Given the description of an element on the screen output the (x, y) to click on. 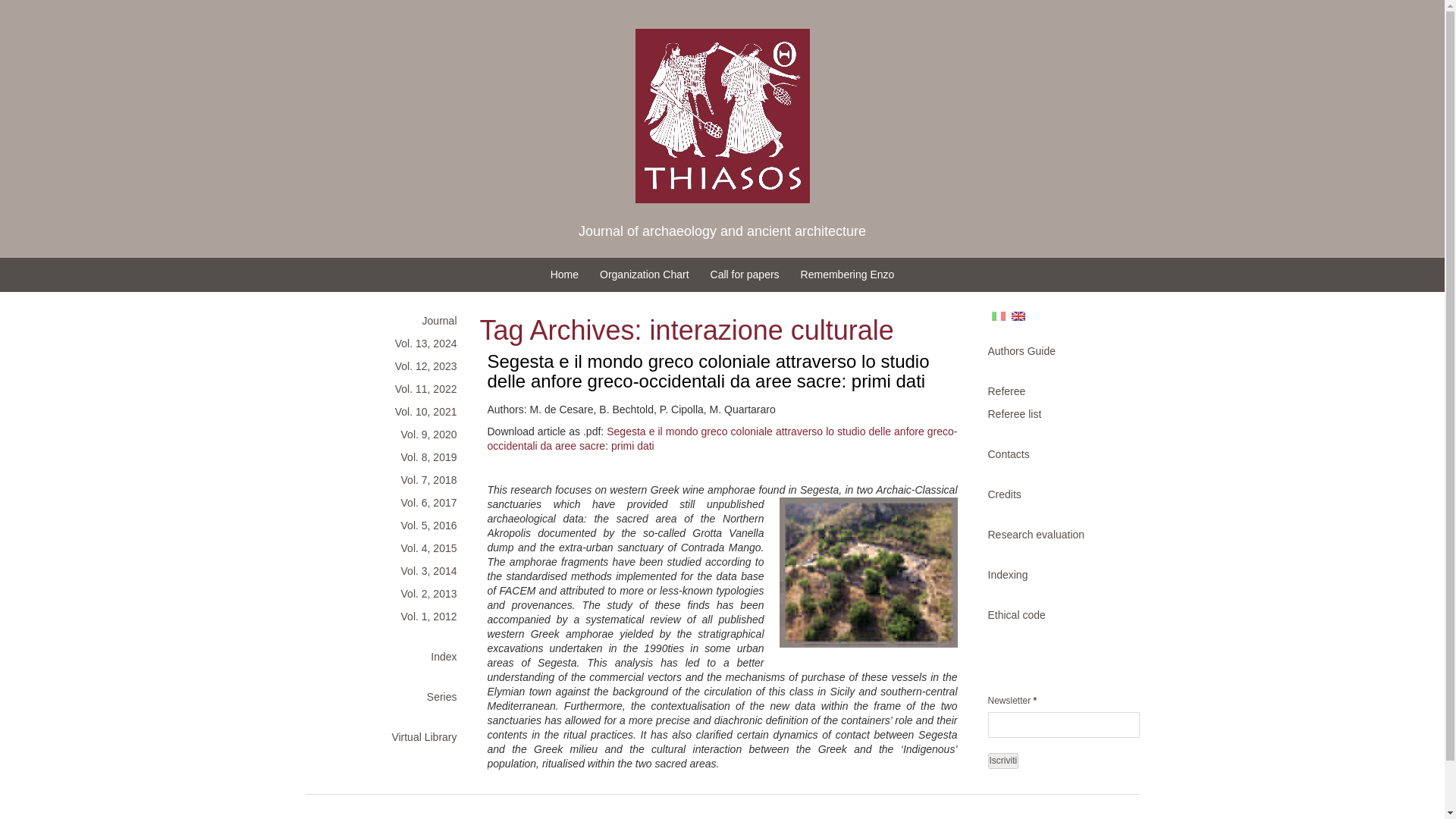
Remembering Enzo (847, 274)
Vol. 10, 2021 (388, 411)
Vol. 8, 2019 (388, 456)
Series (388, 696)
Organization Chart (644, 274)
Journal (388, 320)
Ethical code (1055, 614)
Vol. 5, 2016 (388, 525)
Vol. 12, 2023 (388, 365)
Vol. 6, 2017 (388, 502)
Home (563, 274)
Iscriviti (1002, 760)
Indexing (1055, 574)
Vol. 4, 2015 (388, 548)
Vol. 13, 2024 (388, 343)
